Given the description of an element on the screen output the (x, y) to click on. 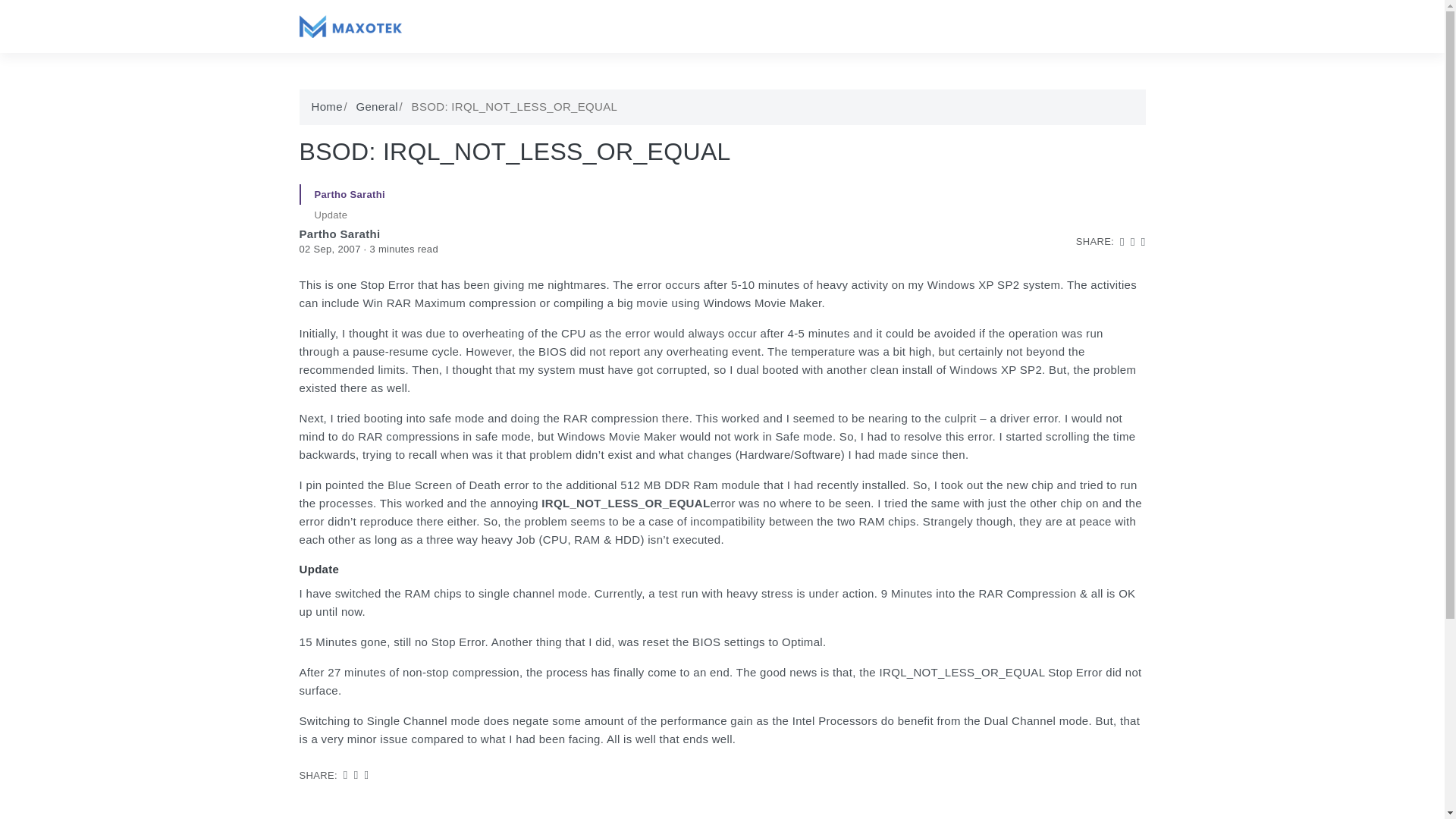
Home (326, 107)
Update (721, 215)
Partho Sarathi (721, 194)
General (376, 107)
Partho Sarathi (339, 233)
